Given the description of an element on the screen output the (x, y) to click on. 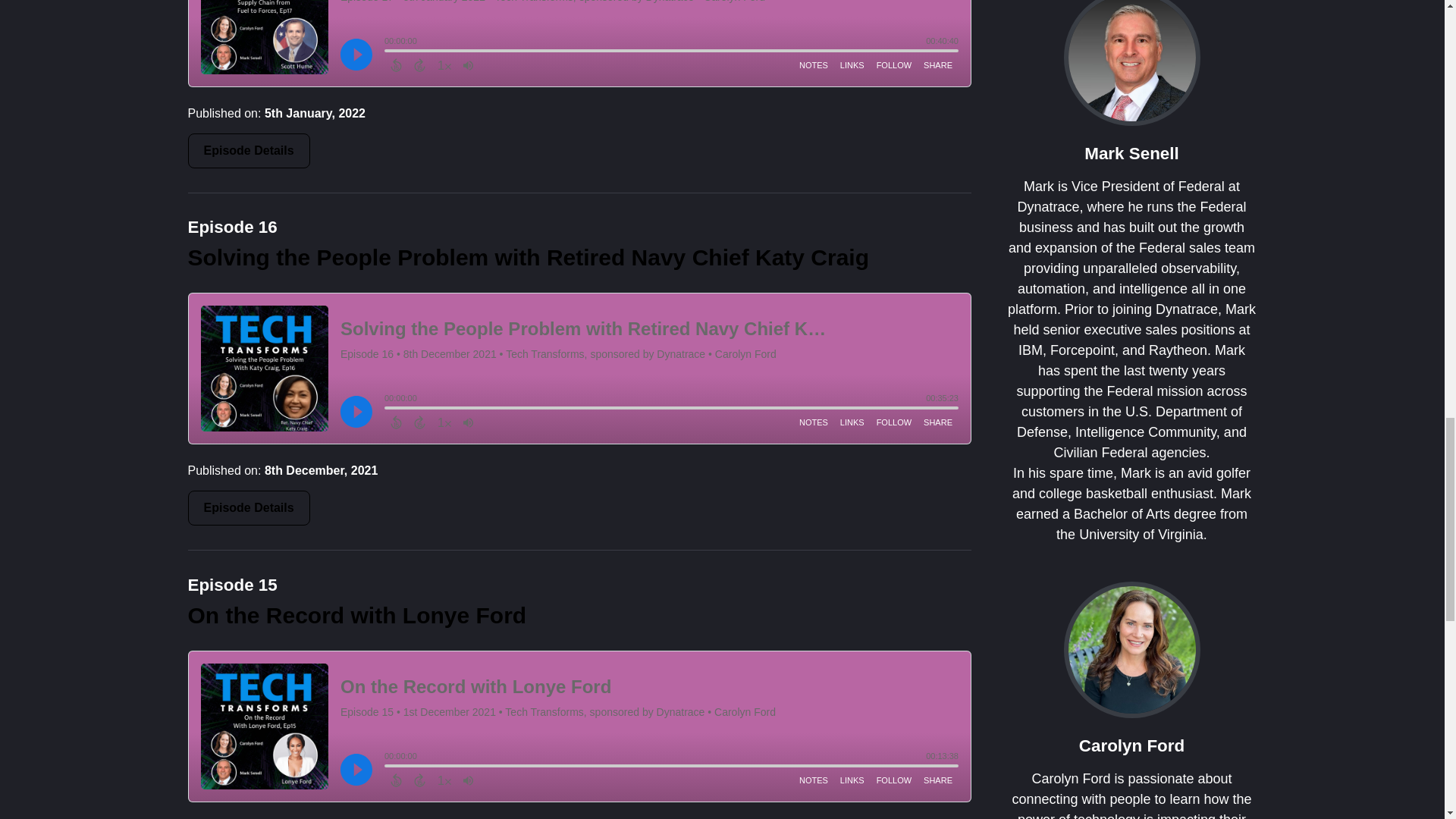
Episode Details (248, 507)
On the Record with Lonye Ford (357, 615)
Episode Details (248, 150)
